Given the description of an element on the screen output the (x, y) to click on. 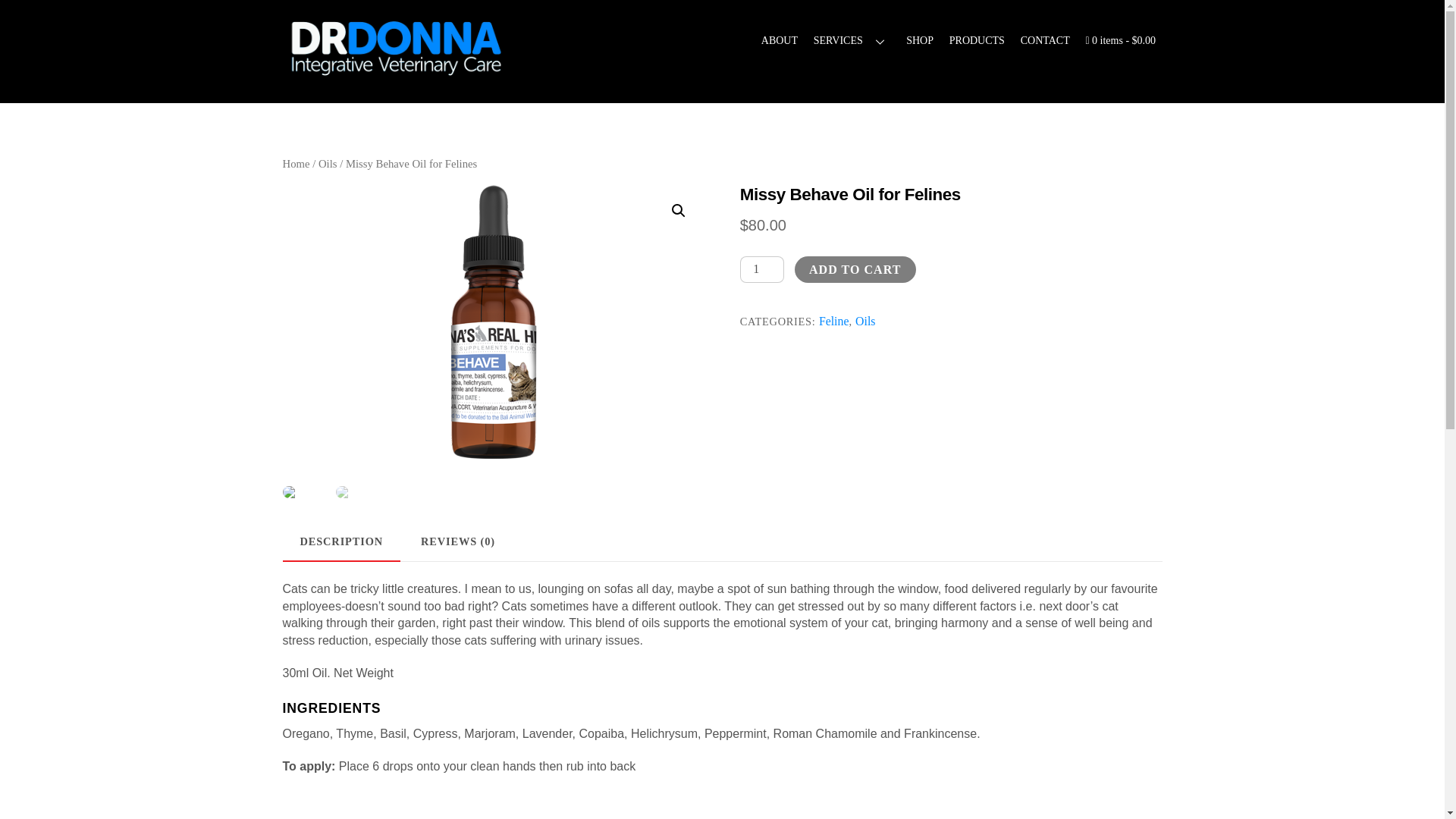
ADD TO CART (854, 269)
DESCRIPTION (341, 540)
SERVICES (851, 40)
Start shopping (1119, 40)
Dr Donna Logo textinv (395, 48)
PRODUCTS (976, 40)
CONTACT (1044, 40)
Home (295, 163)
1 (761, 268)
Oils (865, 320)
